Given the description of an element on the screen output the (x, y) to click on. 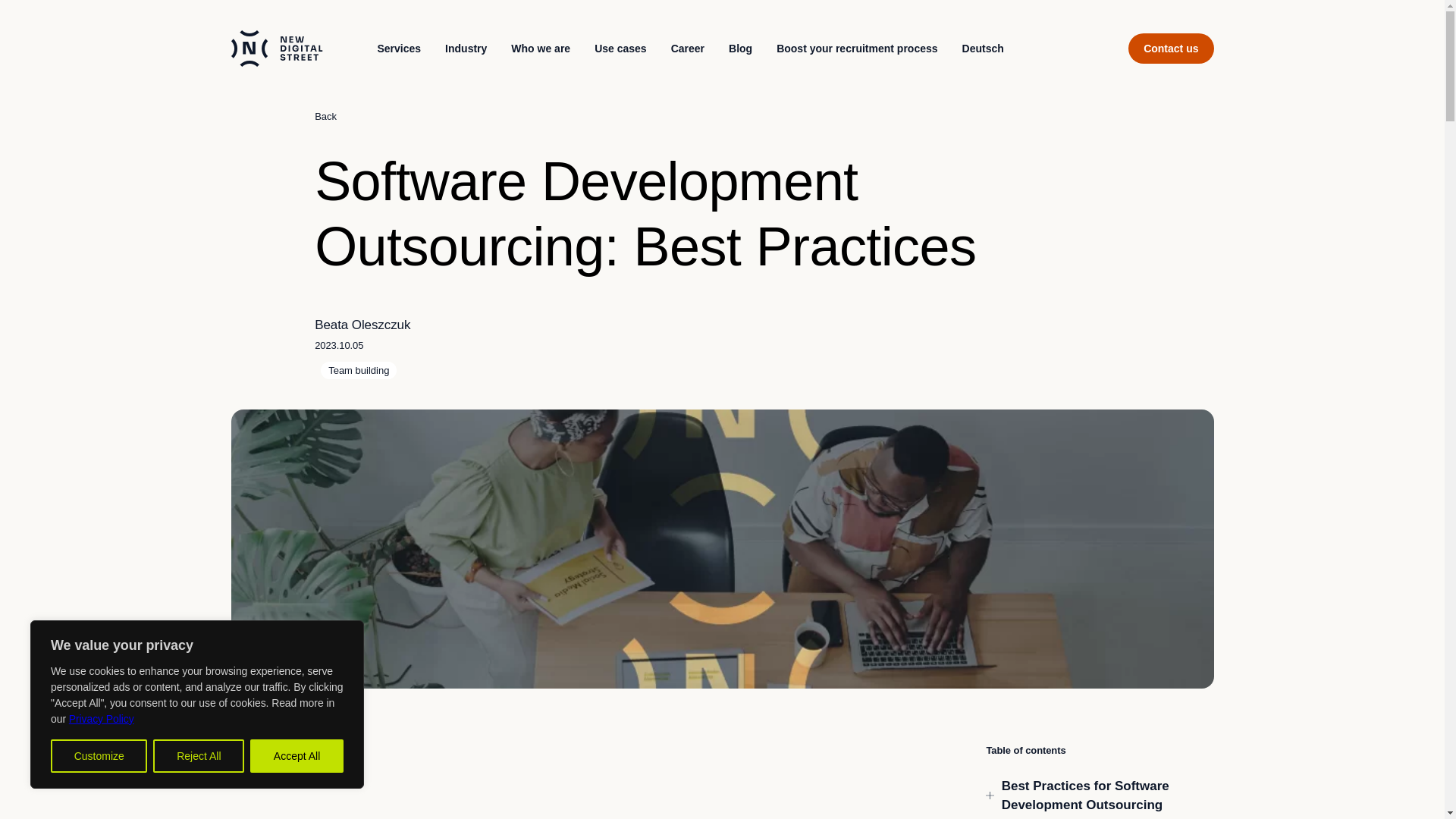
Privacy Policy (100, 718)
Services (399, 48)
Blog (740, 48)
Back (325, 116)
Reject All (198, 756)
Industry (465, 48)
Who we are (540, 48)
Deutsch (983, 48)
Career (687, 48)
Use cases (620, 48)
